Given the description of an element on the screen output the (x, y) to click on. 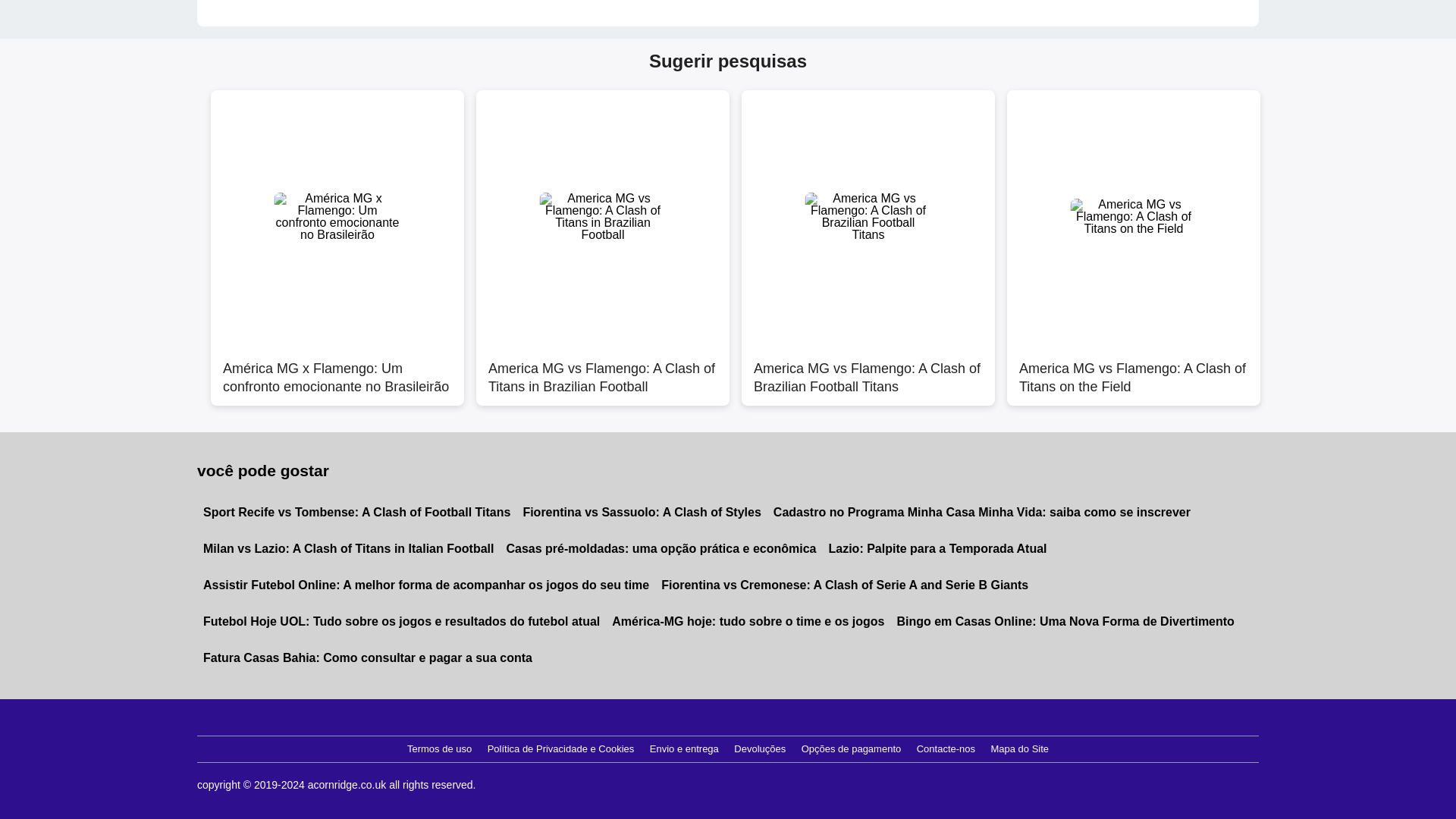
America MG vs Flamengo: A Clash of Brazilian Football Titans (867, 369)
Lazio: Palpite para a Temporada Atual (937, 548)
America MG vs Flamengo: A Clash of Titans on the Field (1133, 369)
Fatura Casas Bahia: Como consultar e pagar a sua conta (367, 657)
Milan vs Lazio: A Clash of Titans in Italian Football (347, 548)
Envio e entrega (684, 749)
Bingo em Casas Online: Uma Nova Forma de Divertimento (1064, 621)
Contacte-nos (946, 749)
Sport Recife vs Tombense: A Clash of Football Titans (356, 512)
Fiorentina vs Sassuolo: A Clash of Styles (641, 512)
Termos de uso (439, 749)
